Given the description of an element on the screen output the (x, y) to click on. 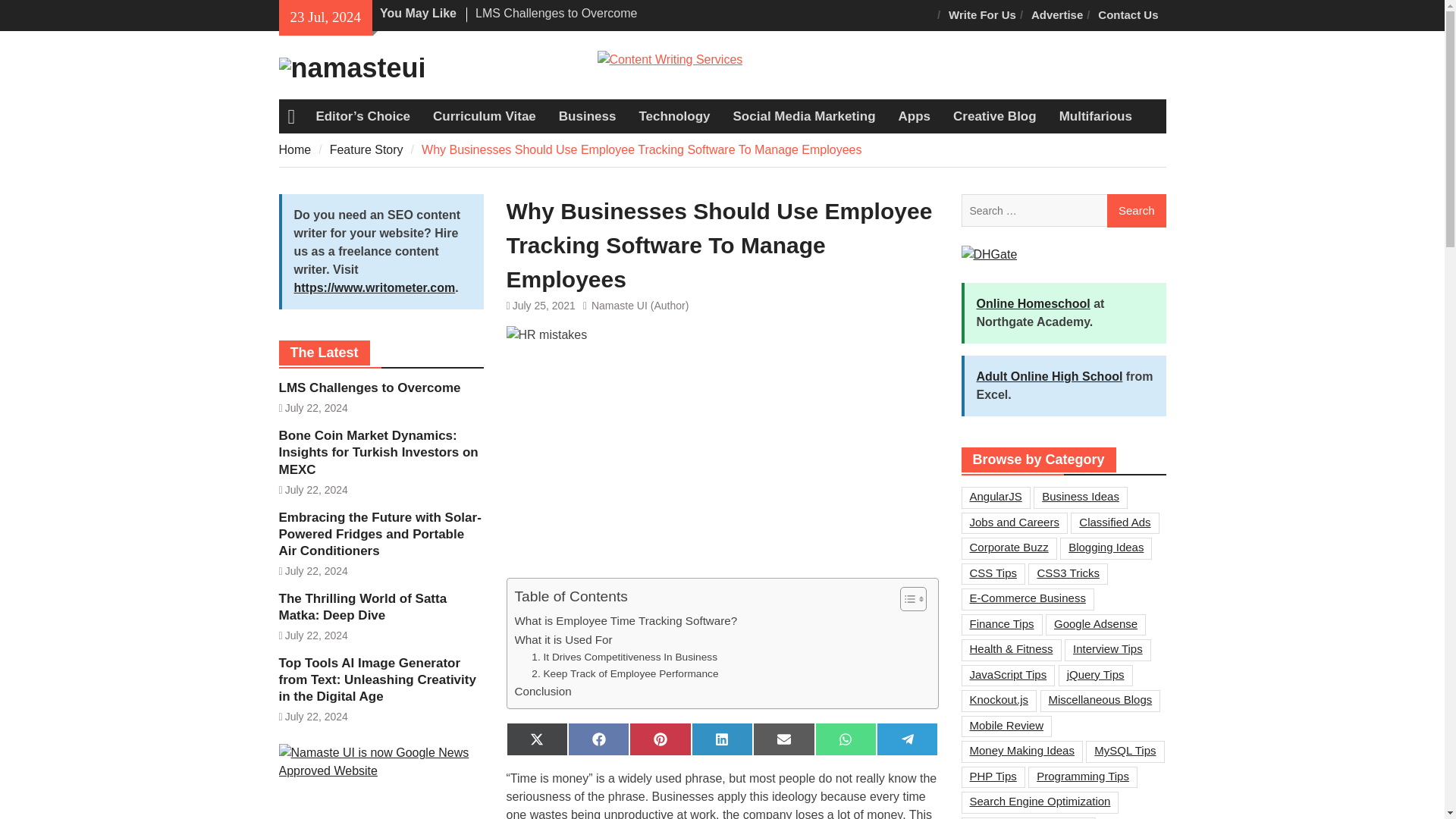
Conclusion (541, 691)
Share on LinkedIn (721, 738)
Feature Story (366, 149)
Technology (673, 116)
2. Keep Track of Employee Performance (624, 673)
2. Keep Track of Employee Performance (624, 673)
Search (1136, 210)
What it is Used For (562, 639)
Multifarious (1095, 116)
What is Employee Time Tracking Software? (624, 620)
Social Media Marketing (804, 116)
Curriculum Vitae (484, 116)
Home (295, 149)
Advertise (1056, 15)
Social Media Marketing (804, 116)
